Given the description of an element on the screen output the (x, y) to click on. 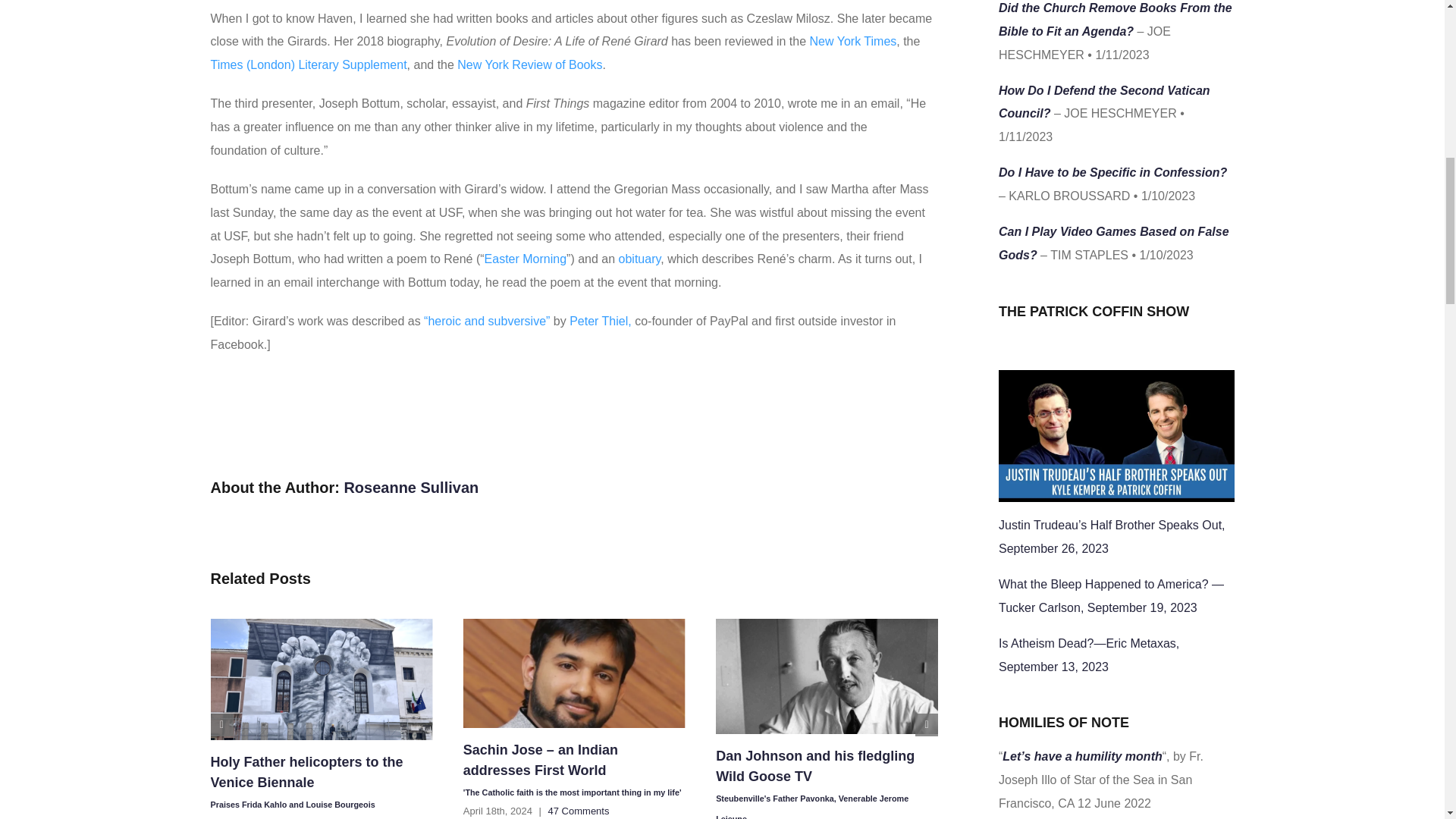
Posts by Roseanne Sullivan (411, 487)
